Given the description of an element on the screen output the (x, y) to click on. 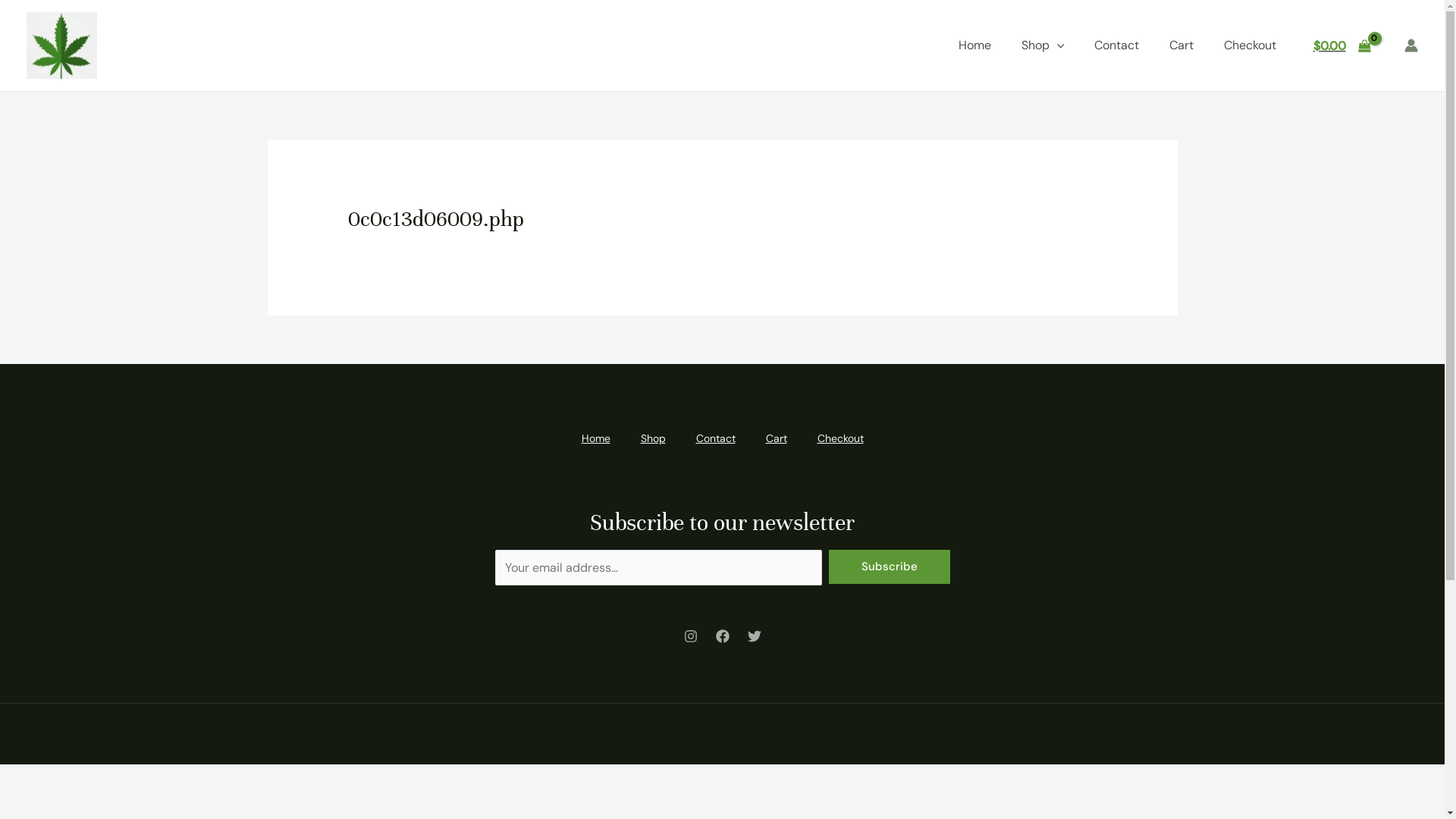
Checkout Element type: text (840, 438)
Subscribe Element type: text (888, 566)
Cart Element type: text (1181, 45)
Shop Element type: text (652, 438)
Shop Element type: text (1042, 45)
$0.00 Element type: text (1341, 45)
Home Element type: text (974, 45)
Home Element type: text (594, 438)
Contact Element type: text (1116, 45)
Cart Element type: text (776, 438)
Contact Element type: text (715, 438)
Checkout Element type: text (1249, 45)
